Given the description of an element on the screen output the (x, y) to click on. 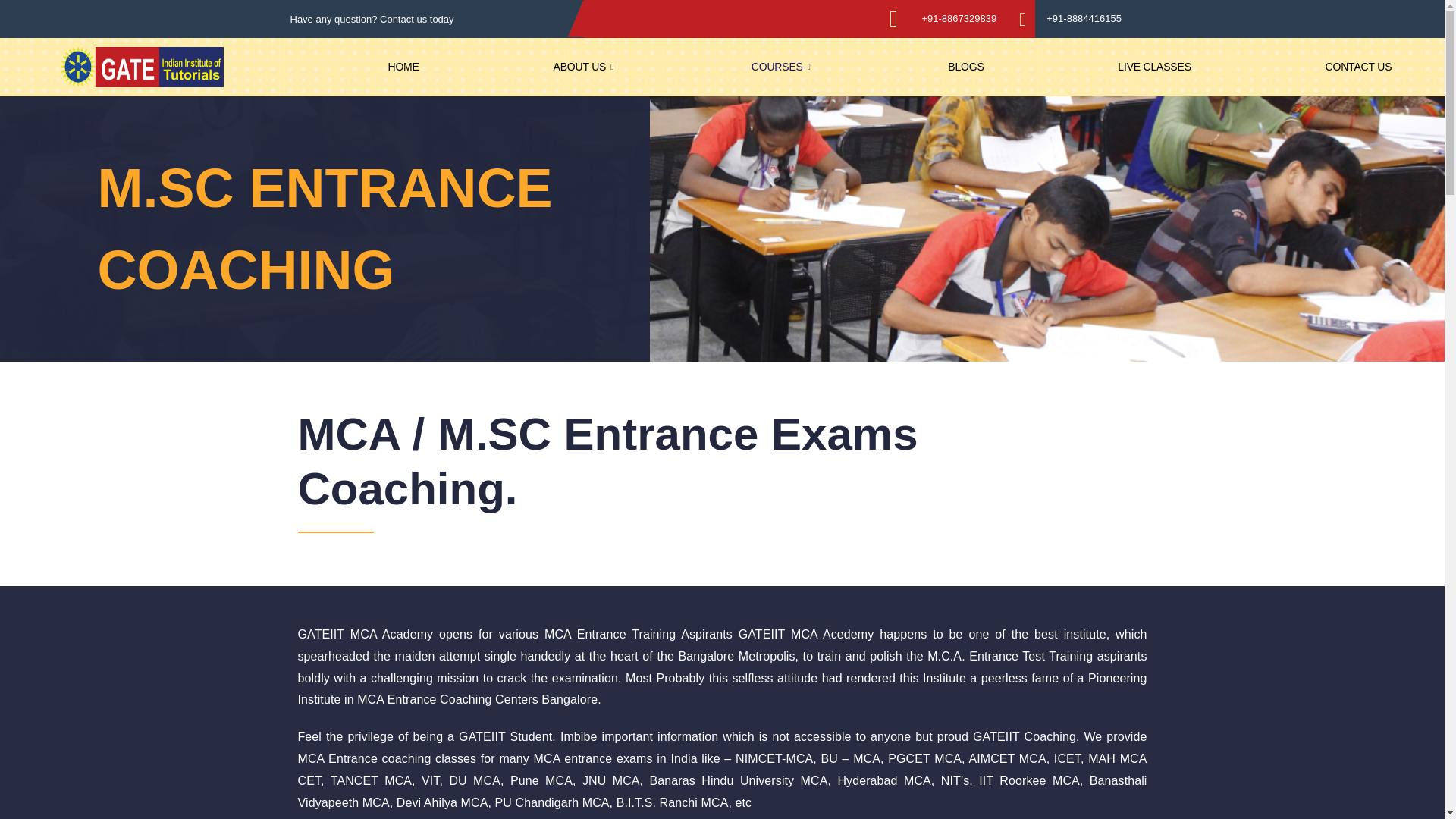
COURSES (782, 66)
ABOUT US (585, 66)
